Given the description of an element on the screen output the (x, y) to click on. 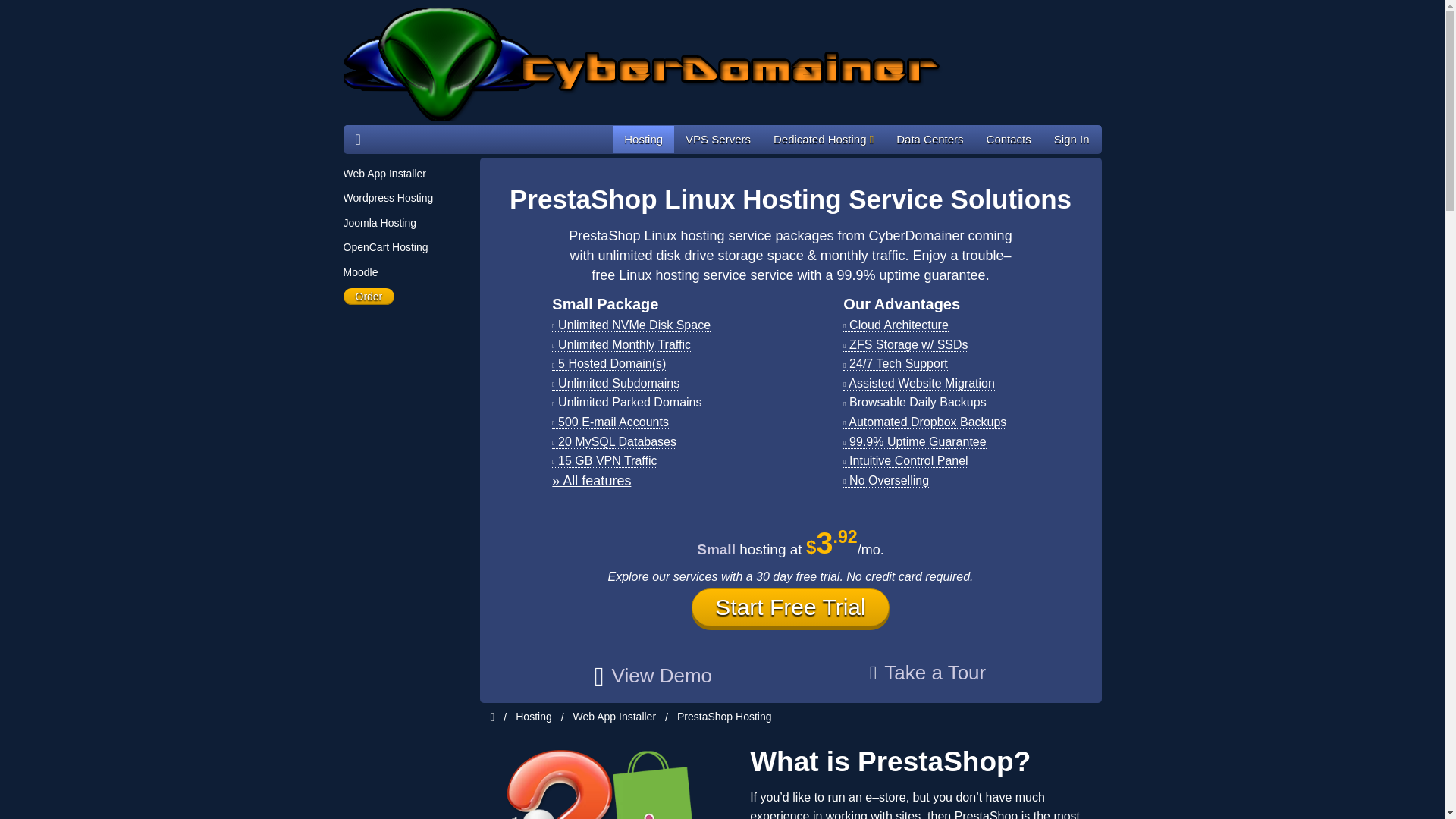
Small Plan Details (590, 480)
Cloud Architecture (895, 324)
Unlimited Monthly Traffic (620, 344)
Hosting (643, 139)
CyberDomainer (645, 64)
Automated Dropbox Backups (924, 421)
